Given the description of an element on the screen output the (x, y) to click on. 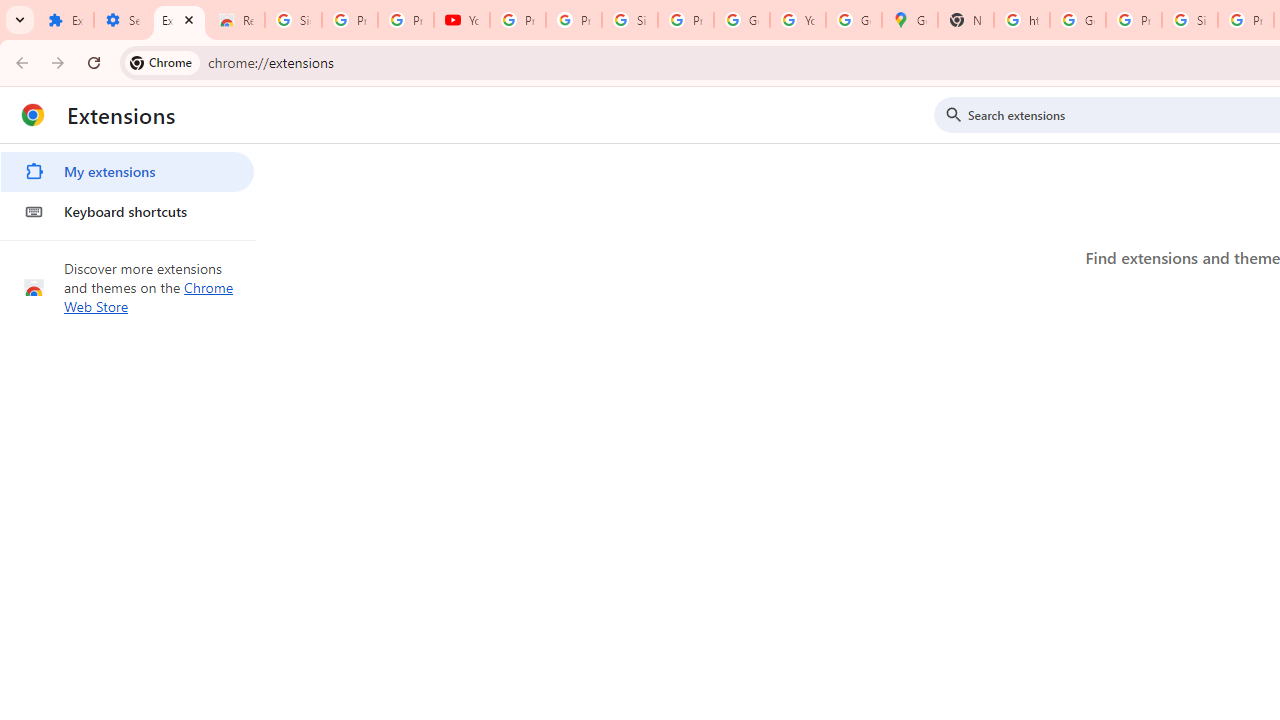
AutomationID: sectionMenu (128, 187)
YouTube (461, 20)
Sign in - Google Accounts (1190, 20)
Sign in - Google Accounts (629, 20)
New Tab (966, 20)
Keyboard shortcuts (127, 211)
Sign in - Google Accounts (293, 20)
Chrome Web Store (149, 296)
